Given the description of an element on the screen output the (x, y) to click on. 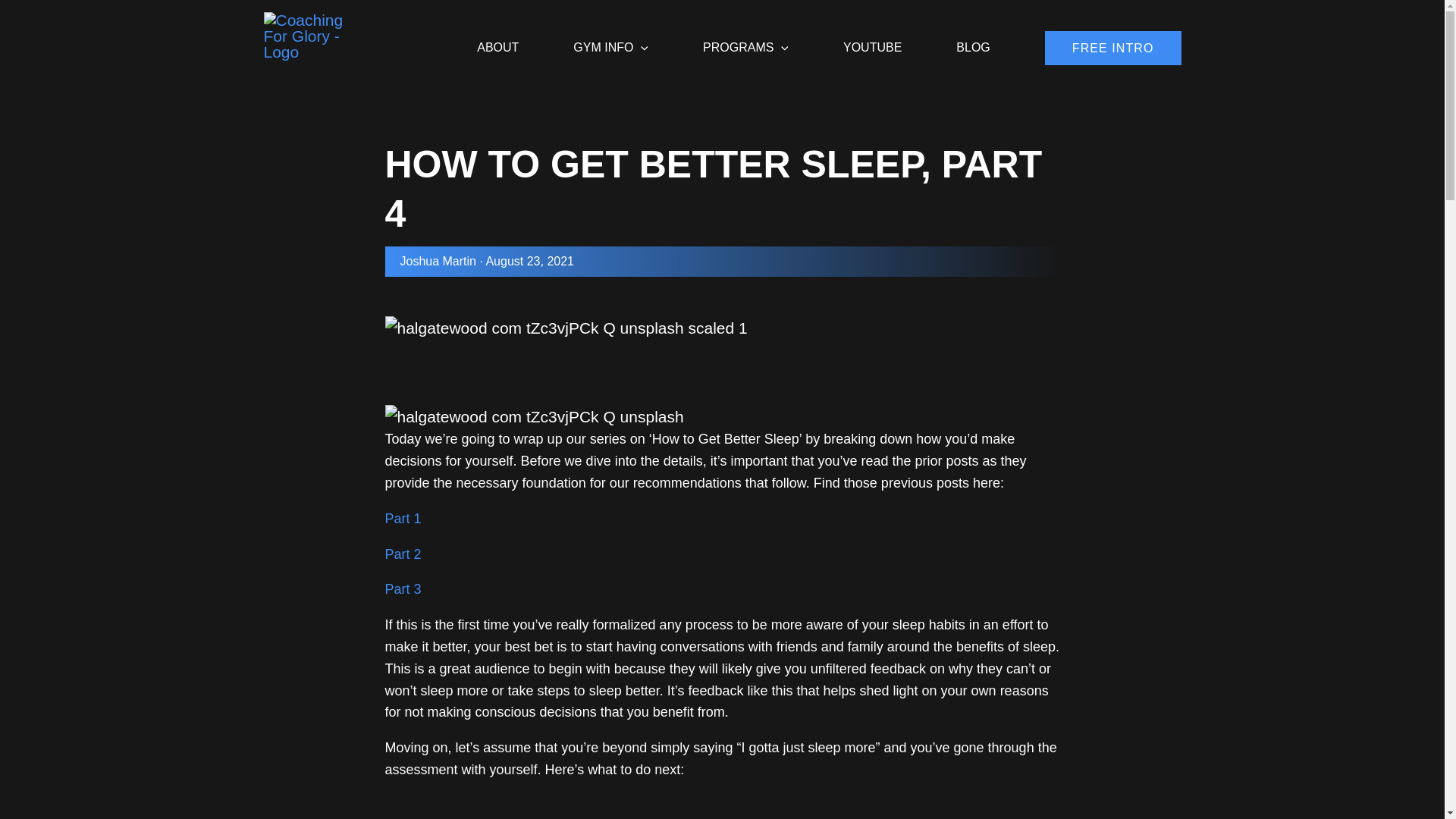
Part 1 (403, 518)
GYM INFO (610, 38)
ABOUT (497, 38)
FREE INTRO (1112, 48)
How to Get Better Sleep, Part 4 2 (566, 328)
How to Get Better Sleep, Part 4 3 (534, 416)
Part 3 (403, 589)
Part 2 (403, 554)
BLOG (972, 38)
YOUTUBE (871, 38)
PROGRAMS (745, 38)
